Given the description of an element on the screen output the (x, y) to click on. 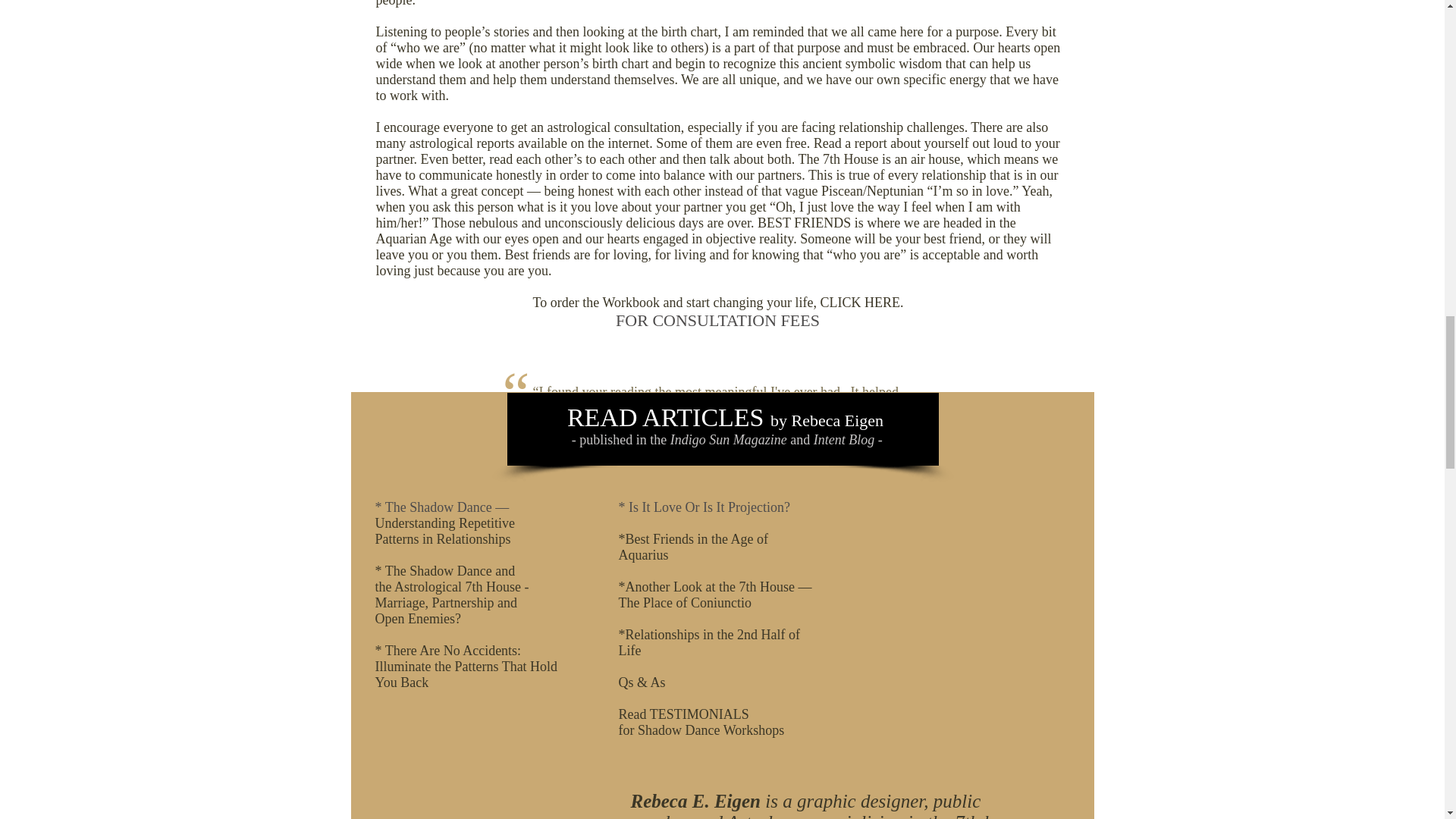
for Shadow Dance Workshops (701, 729)
Patterns in Relationships  (443, 539)
Marriage, Partnership and (445, 602)
the Astrological 7th House - (451, 586)
The Shadow Dance and (450, 570)
The Place of Coniunctio (684, 602)
s It Love Or Is It Projection? (711, 507)
FOR CONSULTATION FEES (717, 320)
CLICK HERE. (860, 302)
Read TESTIMONIALS (683, 713)
Understanding Repetitive (443, 522)
Open Enemies? (417, 618)
Best Friends in the Age of Aquarius (693, 546)
